Given the description of an element on the screen output the (x, y) to click on. 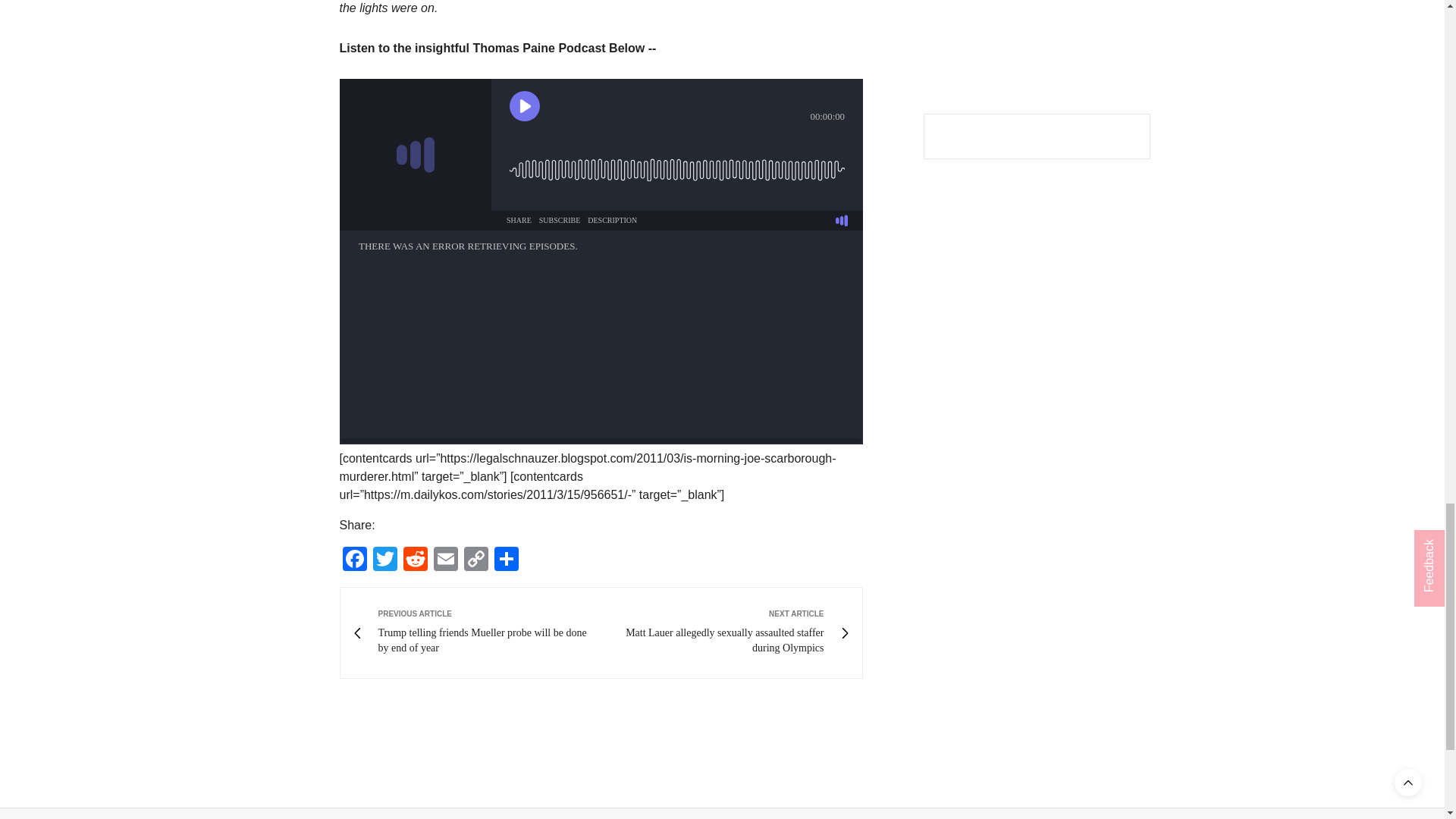
Twitter (384, 560)
Facebook (354, 560)
Email (445, 560)
Copy Link (476, 560)
Facebook (354, 560)
Reddit (415, 560)
Copy Link (476, 560)
Reddit (415, 560)
Email (445, 560)
